Given the description of an element on the screen output the (x, y) to click on. 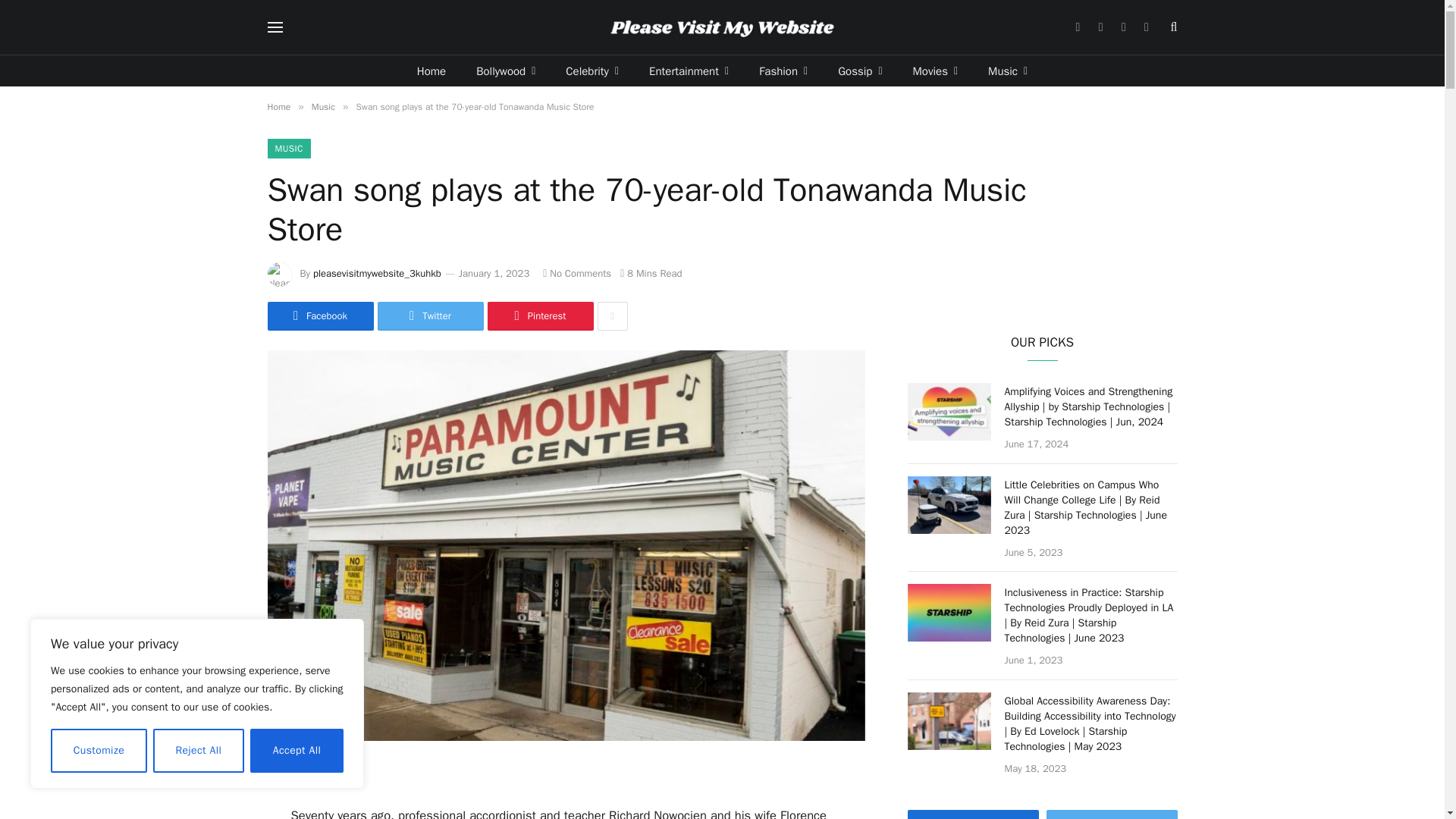
Search (1172, 27)
YouTube (1146, 27)
Instagram (1122, 27)
Facebook (1077, 27)
Customize (98, 750)
Bollywood (505, 70)
Reject All (198, 750)
Please Visit My Website (721, 27)
Accept All (296, 750)
Twitter (1099, 27)
Home (431, 70)
